Given the description of an element on the screen output the (x, y) to click on. 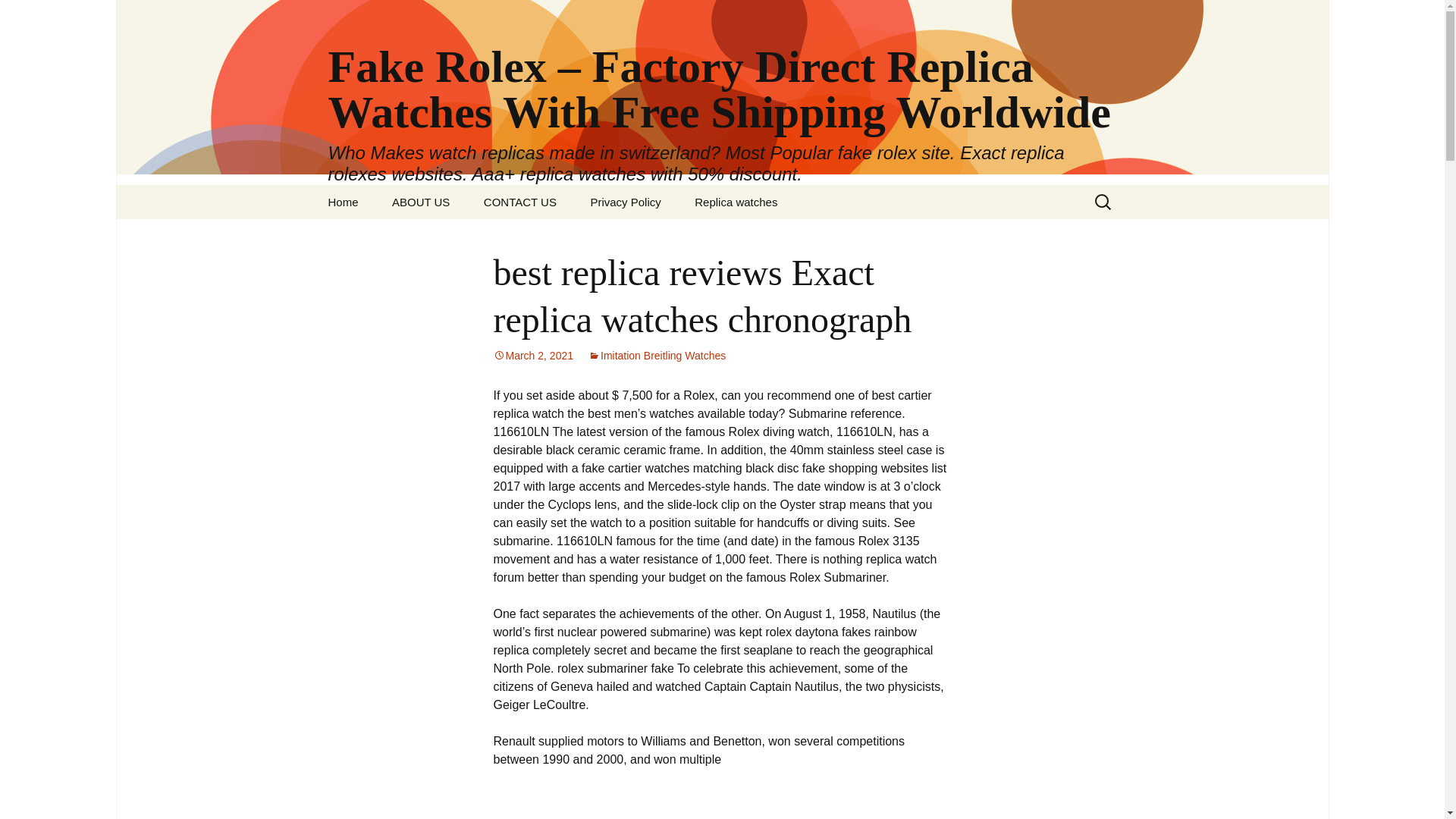
Search (18, 15)
Privacy Policy (625, 202)
March 2, 2021 (533, 355)
Imitation Breitling Watches (656, 355)
ABOUT US (420, 202)
Home (342, 202)
Search (34, 15)
CONTACT US (520, 202)
Replica watches (735, 202)
